Given the description of an element on the screen output the (x, y) to click on. 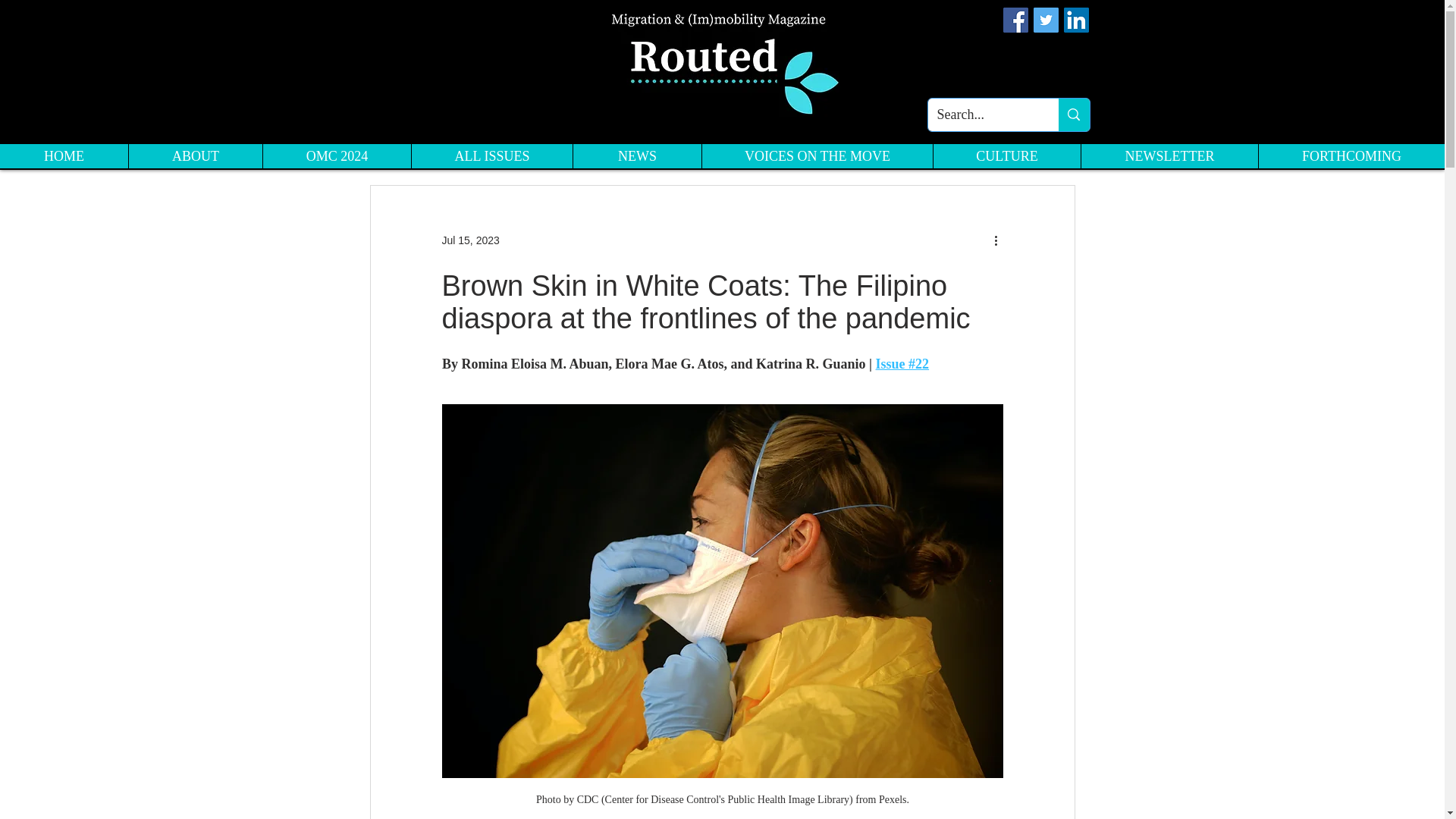
Jul 15, 2023 (470, 239)
VOICES ON THE MOVE (817, 156)
ALL ISSUES (491, 156)
NEWSLETTER (1168, 156)
NEWS (636, 156)
CULTURE (1006, 156)
OMC 2024 (336, 156)
ABOUT (195, 156)
HOME (64, 156)
